Given the description of an element on the screen output the (x, y) to click on. 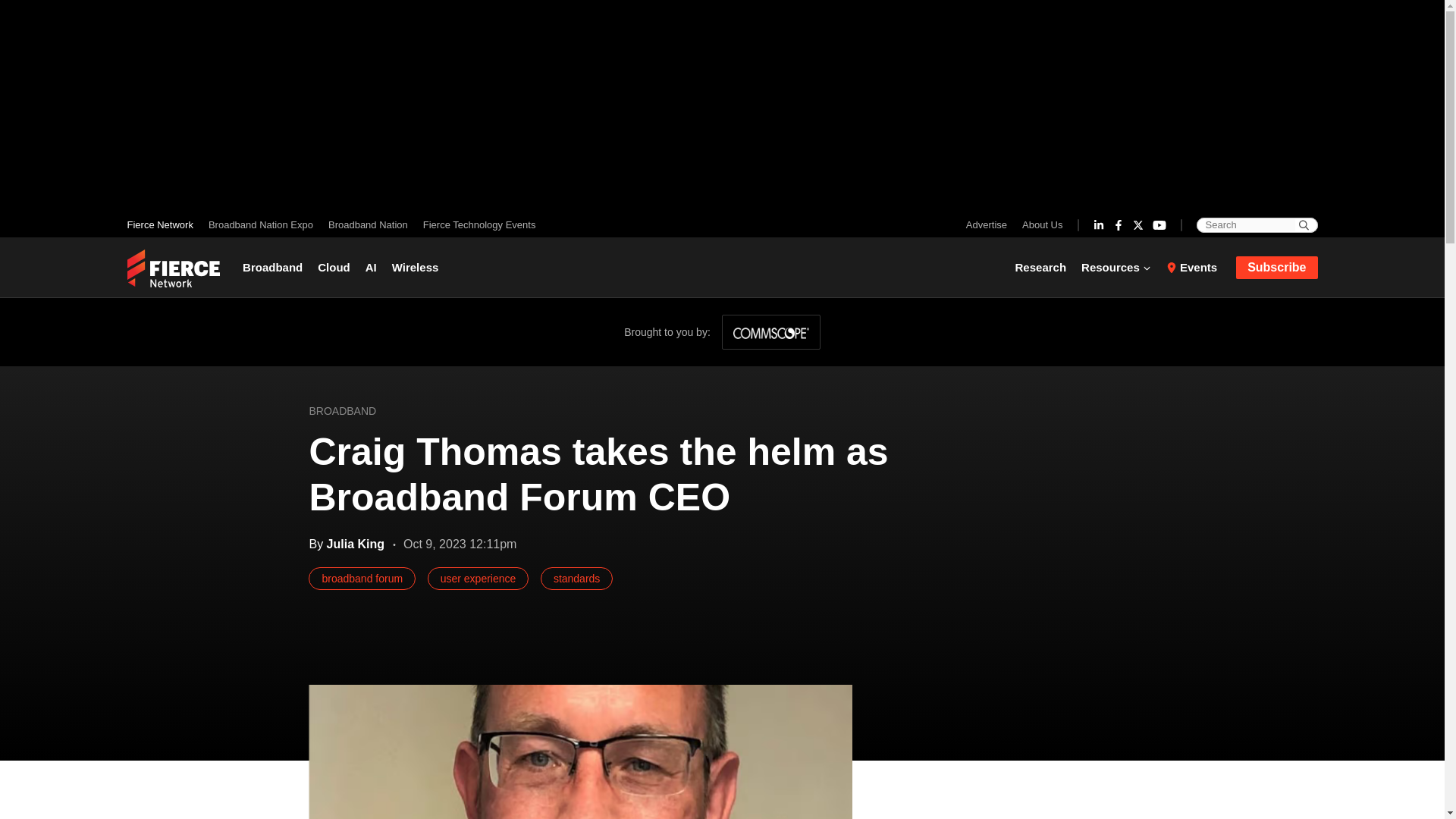
Advertise (990, 225)
Broadband Nation Expo (260, 225)
Broadband (276, 266)
About Us (1038, 225)
Fierce Technology Events (474, 225)
Wireless (415, 266)
Subscribe (1276, 267)
AI (371, 266)
Fierce Network (164, 225)
Resources (1116, 266)
